Given the description of an element on the screen output the (x, y) to click on. 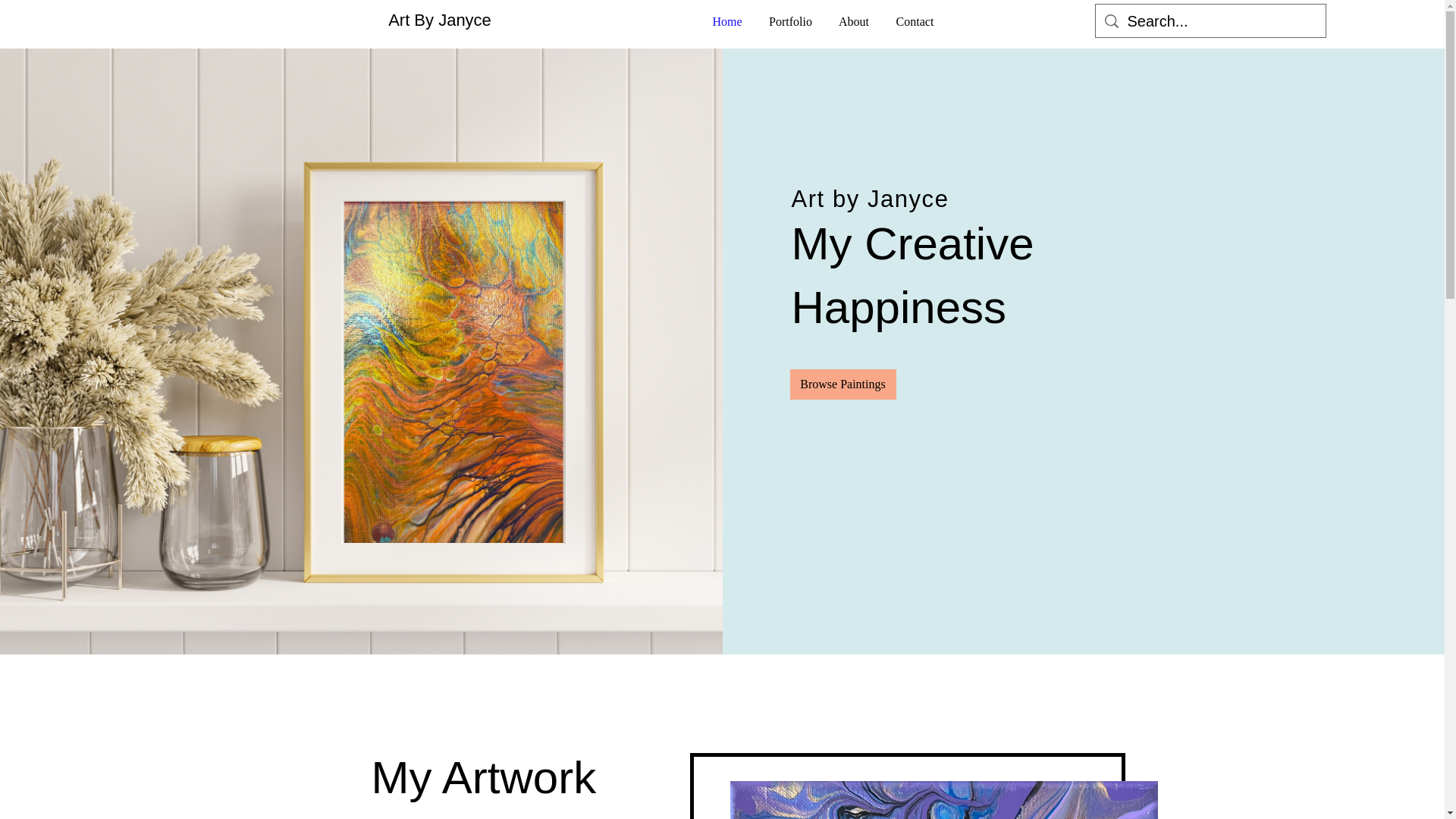
About (854, 21)
Browse Paintings (843, 384)
Home (726, 21)
Portfolio (791, 21)
Contact (913, 21)
Art By Janyce (440, 19)
